Given the description of an element on the screen output the (x, y) to click on. 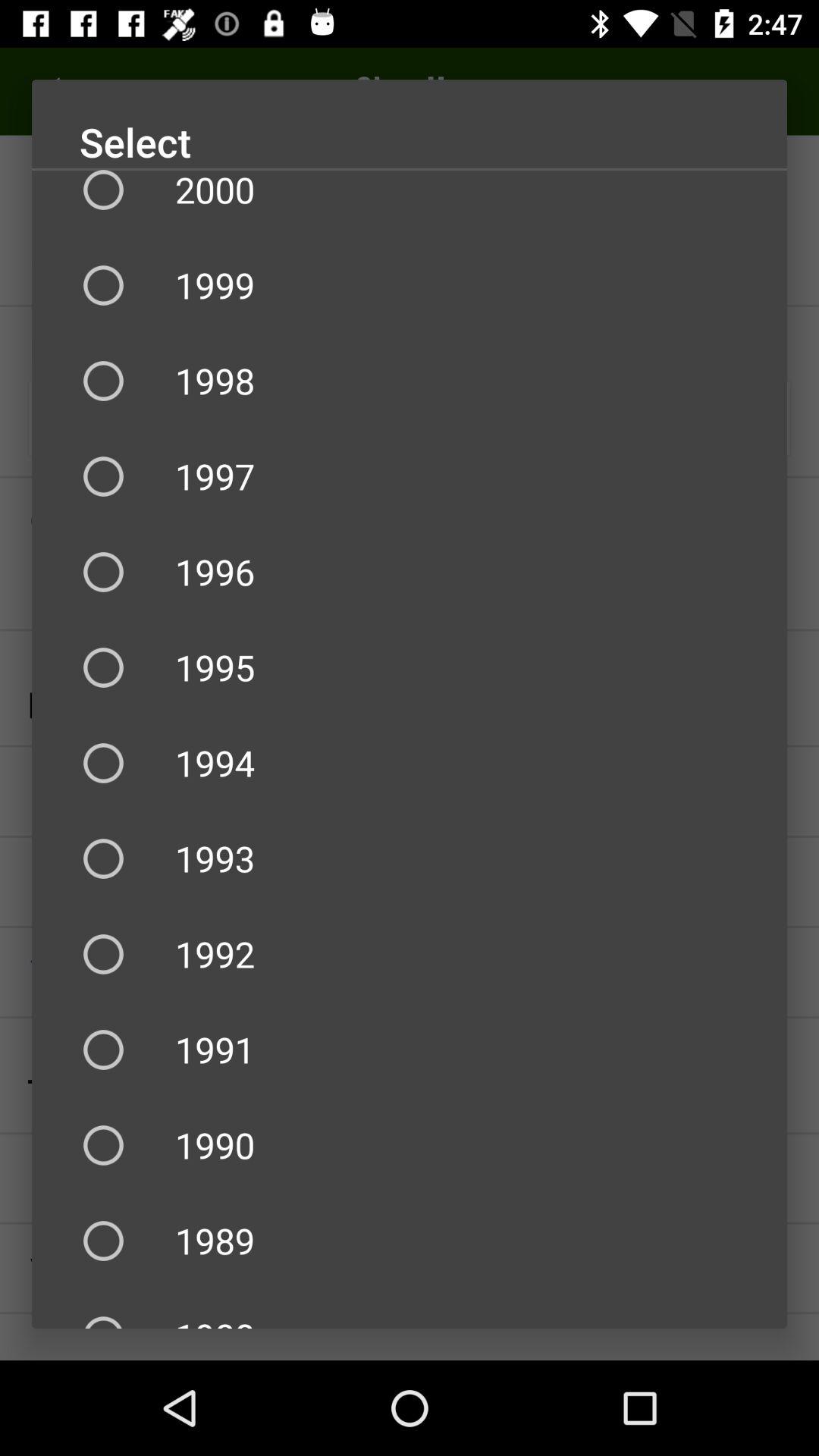
press the icon below 1998 icon (409, 476)
